Given the description of an element on the screen output the (x, y) to click on. 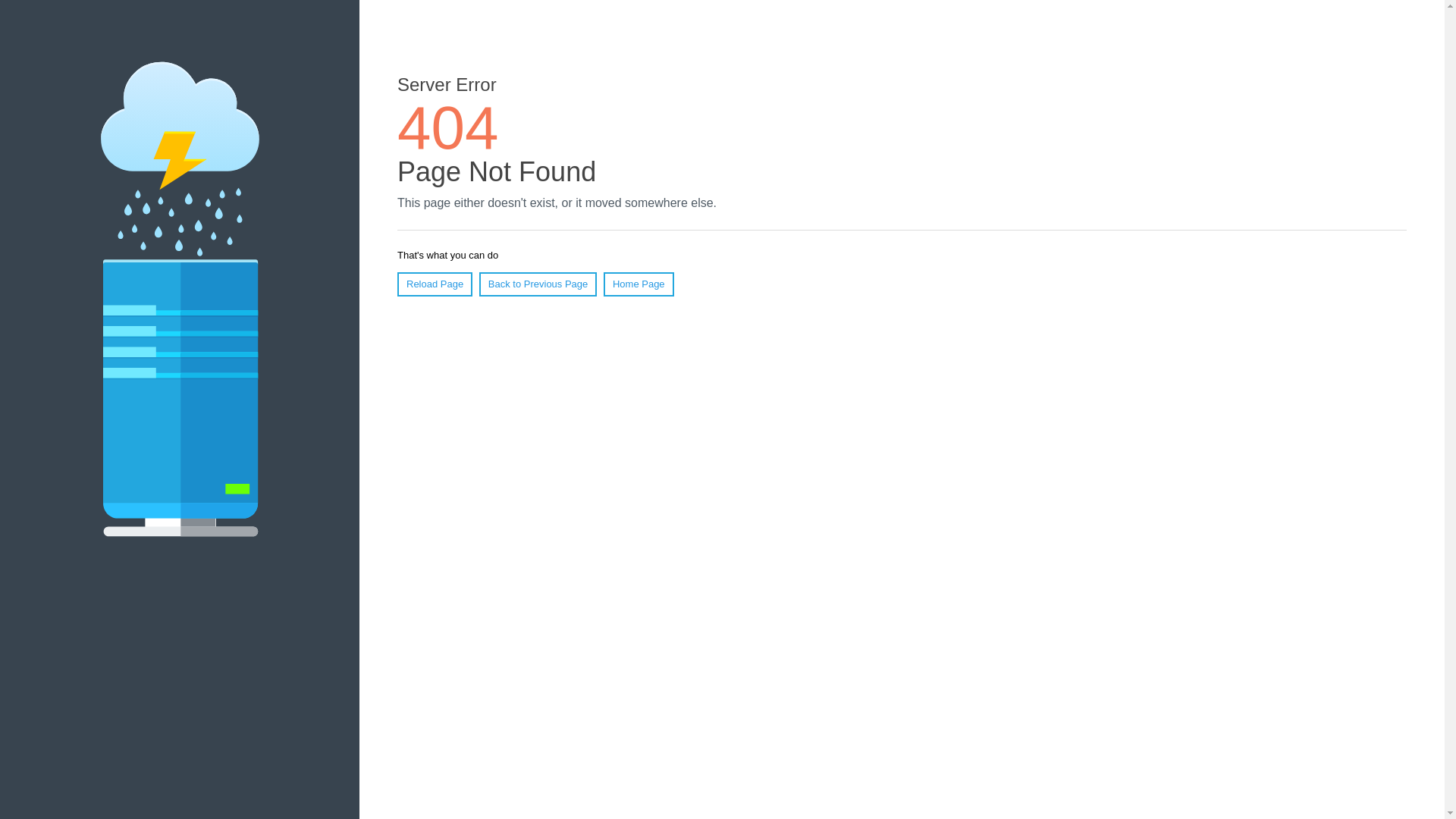
Reload Page (434, 283)
Back to Previous Page (537, 283)
Home Page (639, 283)
